Given the description of an element on the screen output the (x, y) to click on. 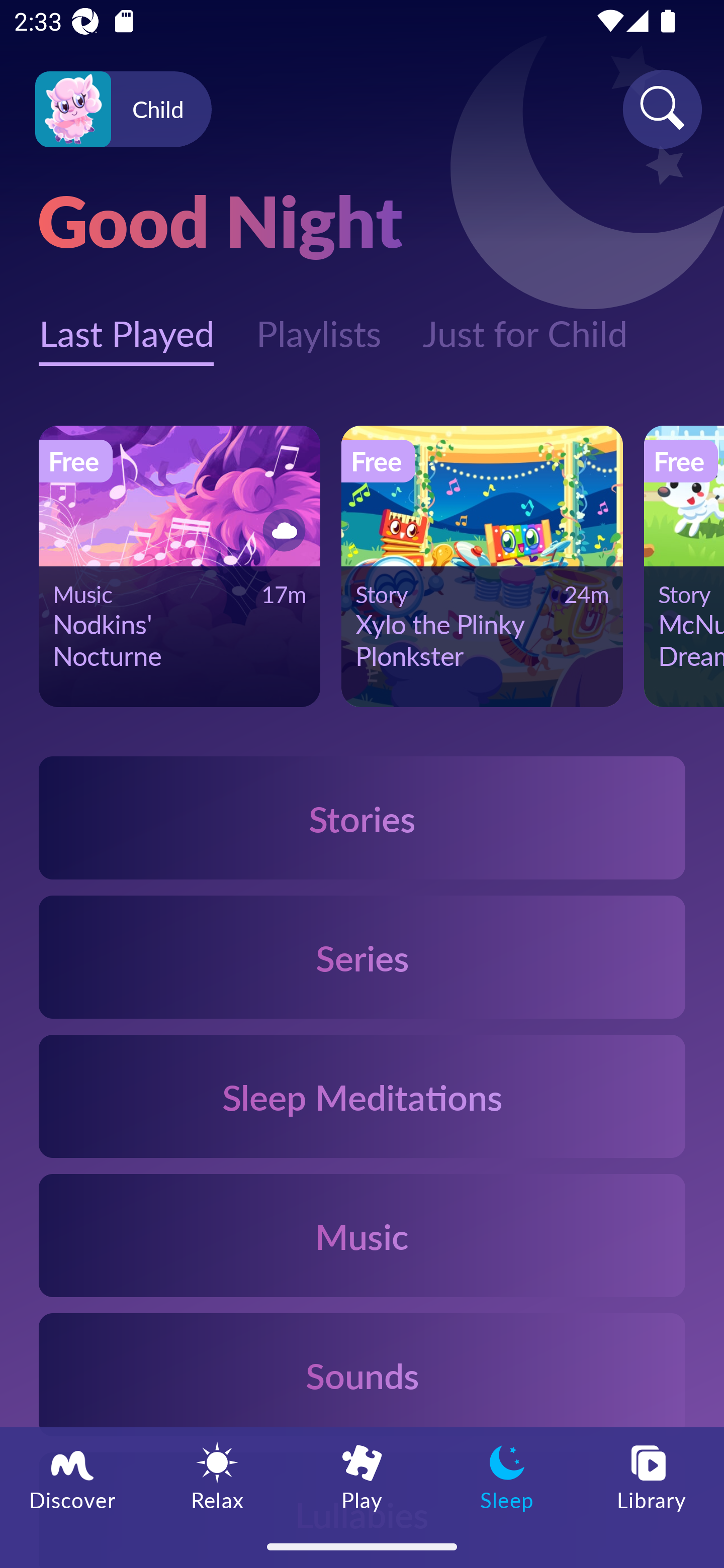
Profile icon Child (123, 109)
Playlists (317, 322)
Just for Child (524, 322)
Button (280, 529)
Stories (361, 817)
Series (361, 957)
Sleep Meditations (361, 1096)
Music (361, 1234)
Sounds (361, 1374)
Discover (72, 1475)
Relax (216, 1475)
Play (361, 1475)
Library (651, 1475)
